Given the description of an element on the screen output the (x, y) to click on. 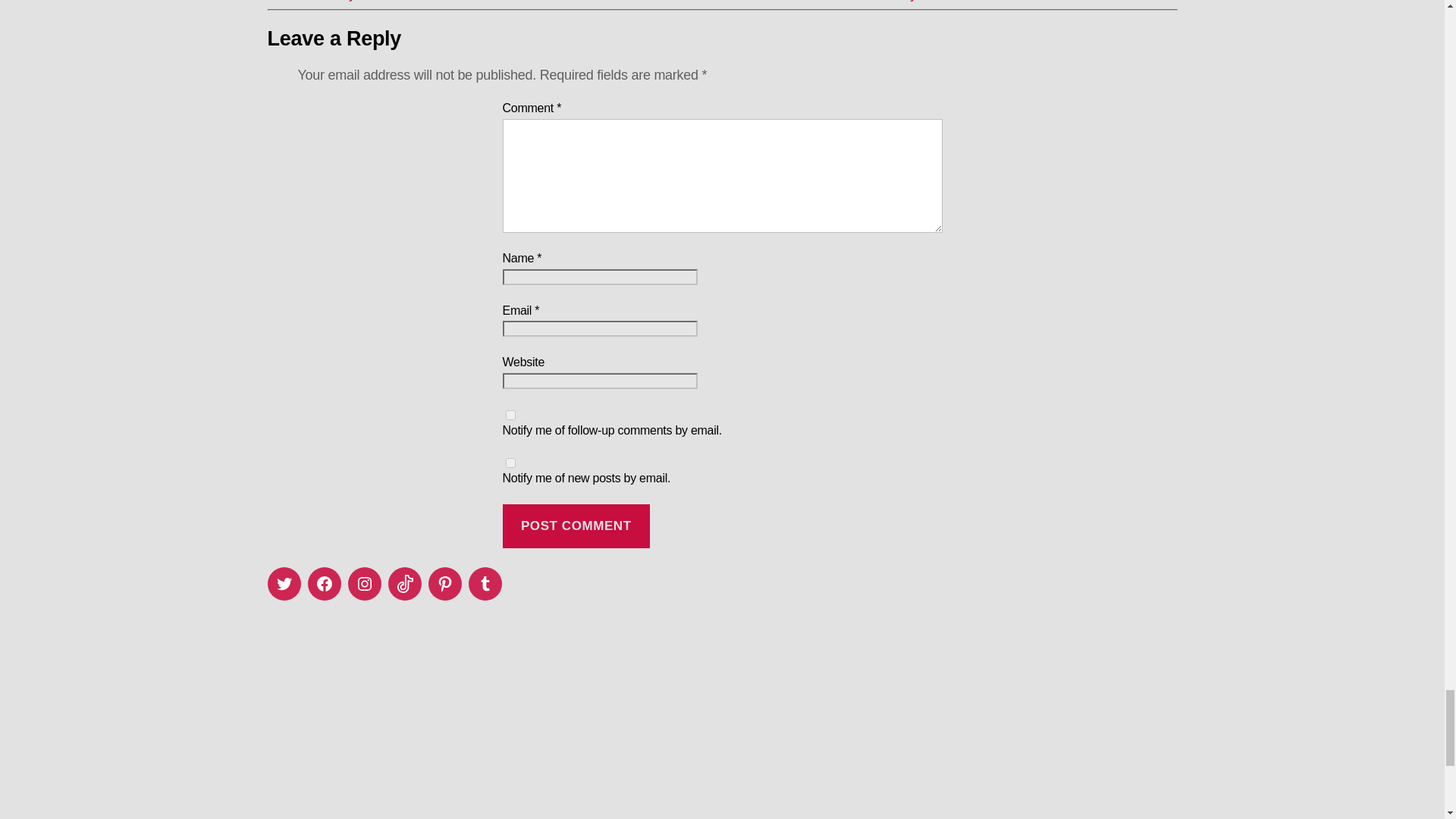
subscribe (510, 462)
Post Comment (575, 526)
subscribe (510, 415)
